Given the description of an element on the screen output the (x, y) to click on. 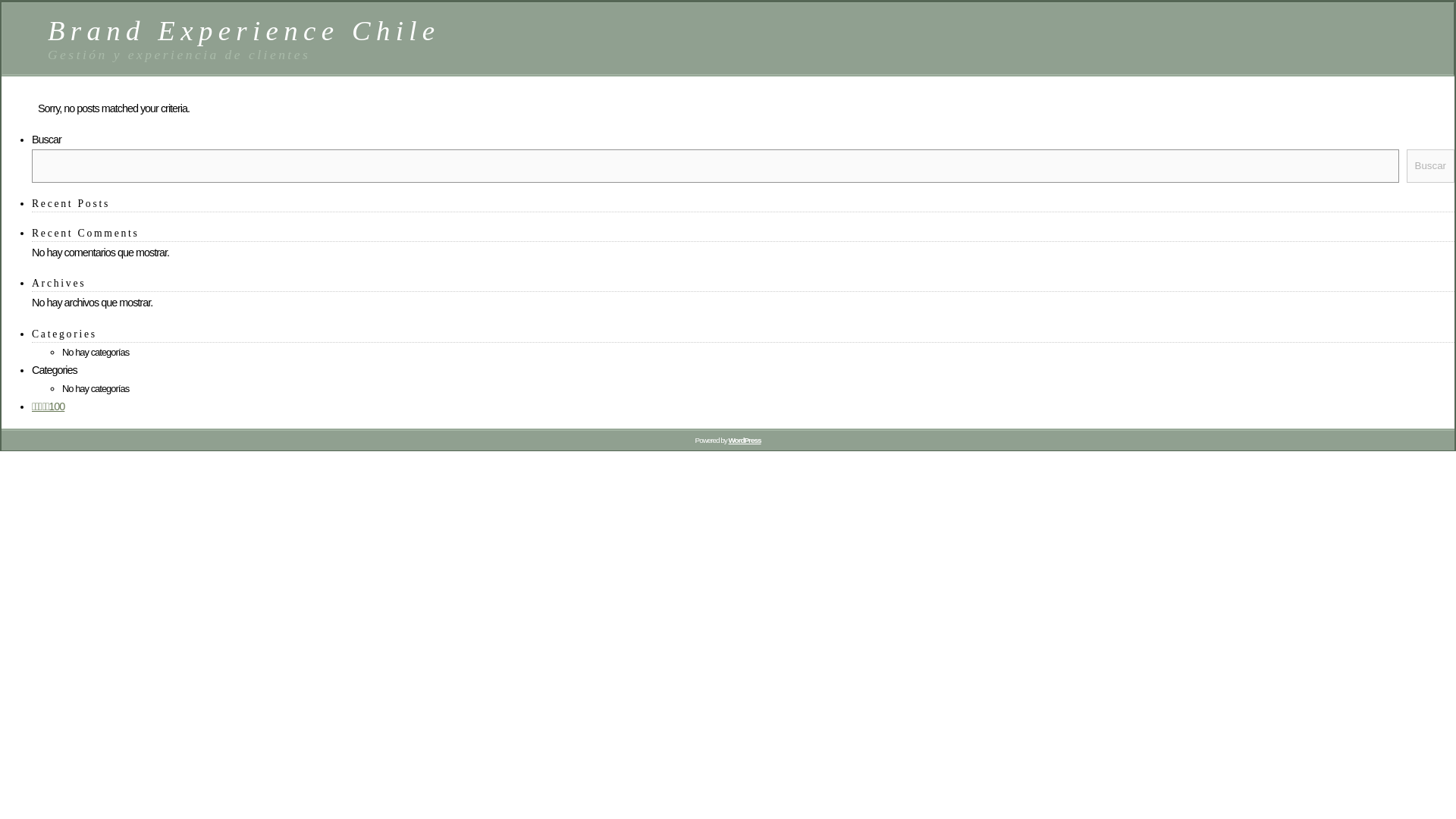
Brand Experience Chile (244, 30)
WordPress (744, 439)
